Given the description of an element on the screen output the (x, y) to click on. 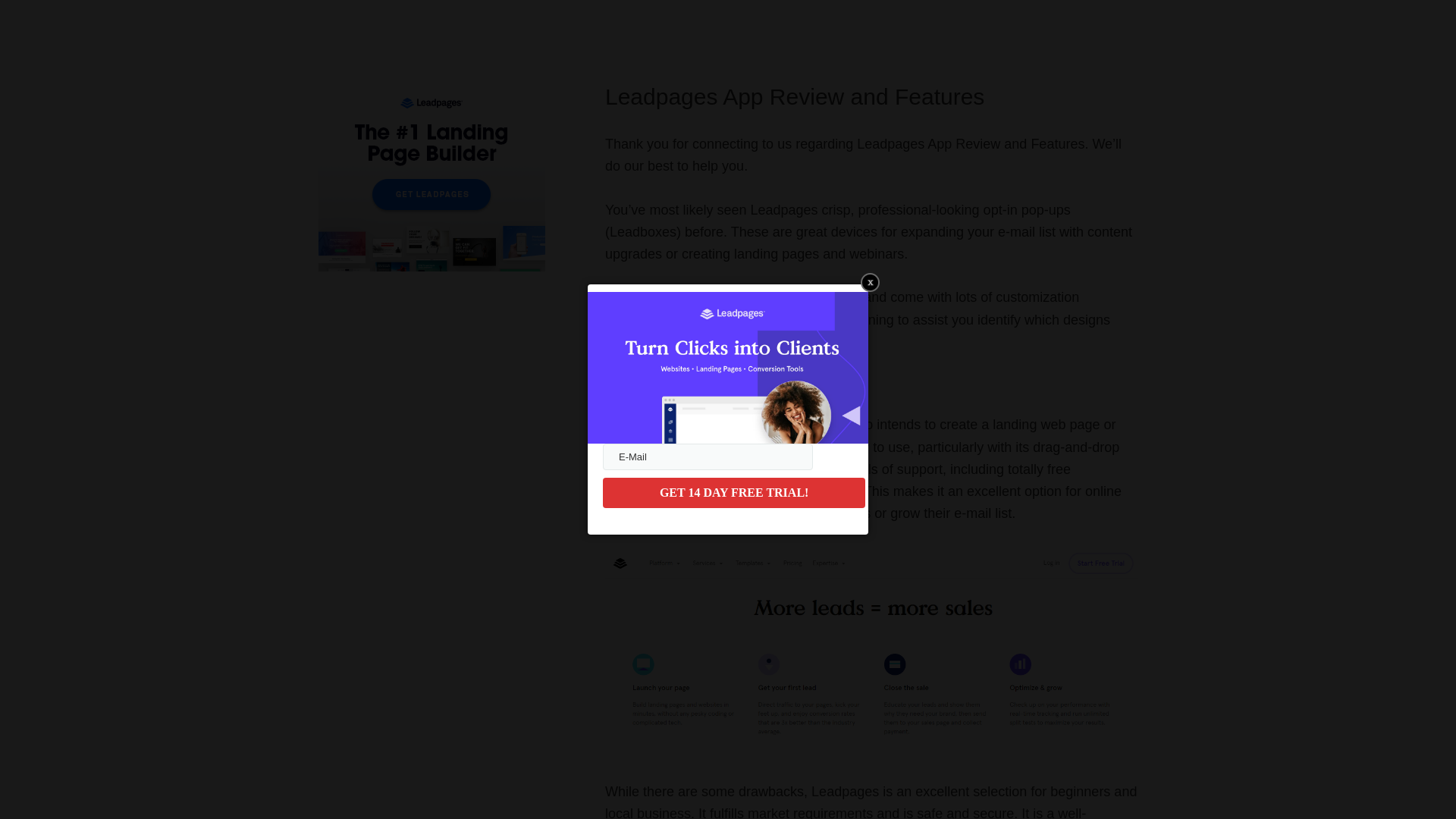
GET 14 DAY FREE TRIAL! (733, 492)
GET 14 DAY FREE TRIAL! (733, 492)
